Given the description of an element on the screen output the (x, y) to click on. 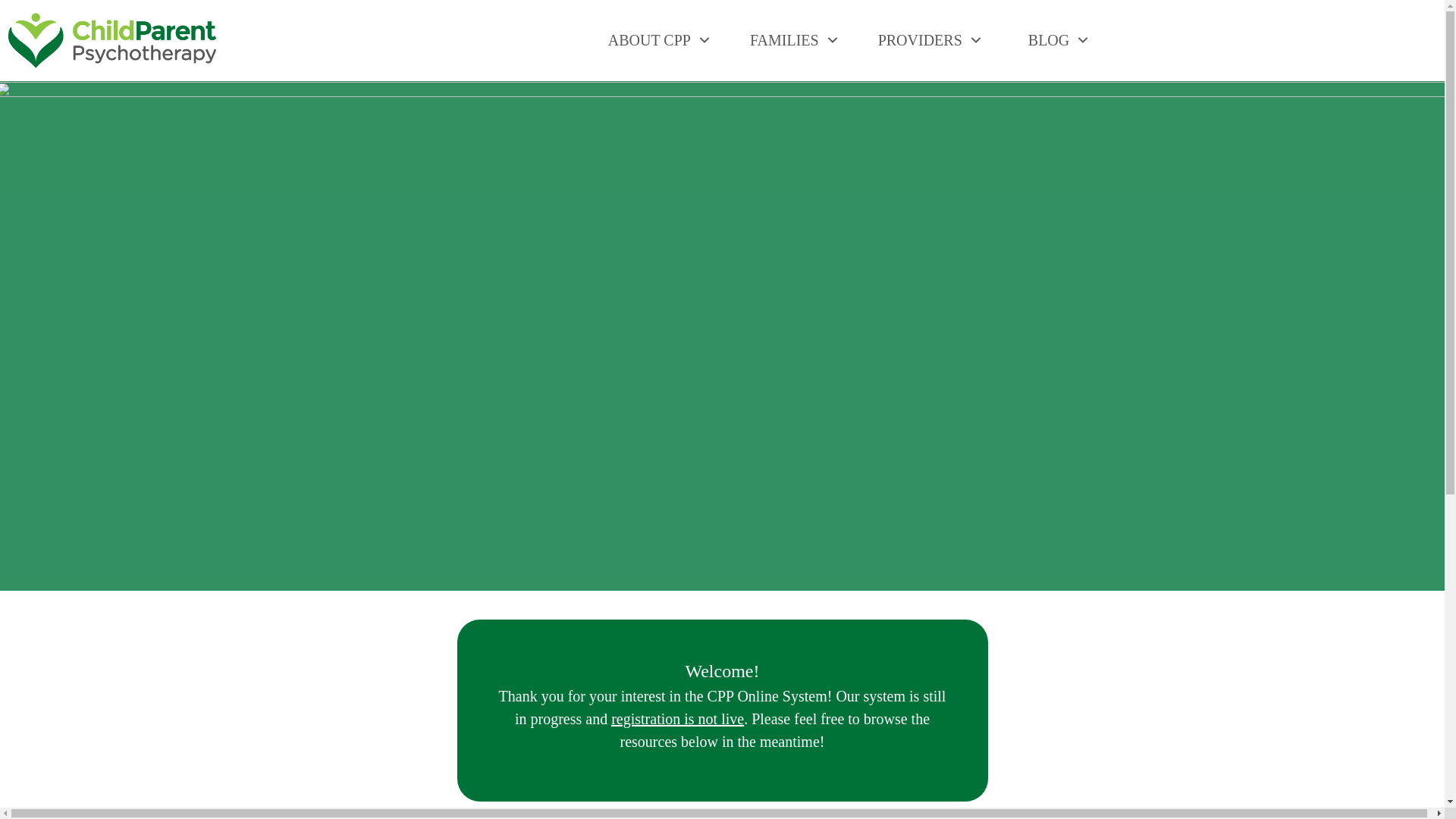
ABOUT CPP (659, 39)
FAMILIES (794, 39)
PROVIDERS (930, 39)
